Given the description of an element on the screen output the (x, y) to click on. 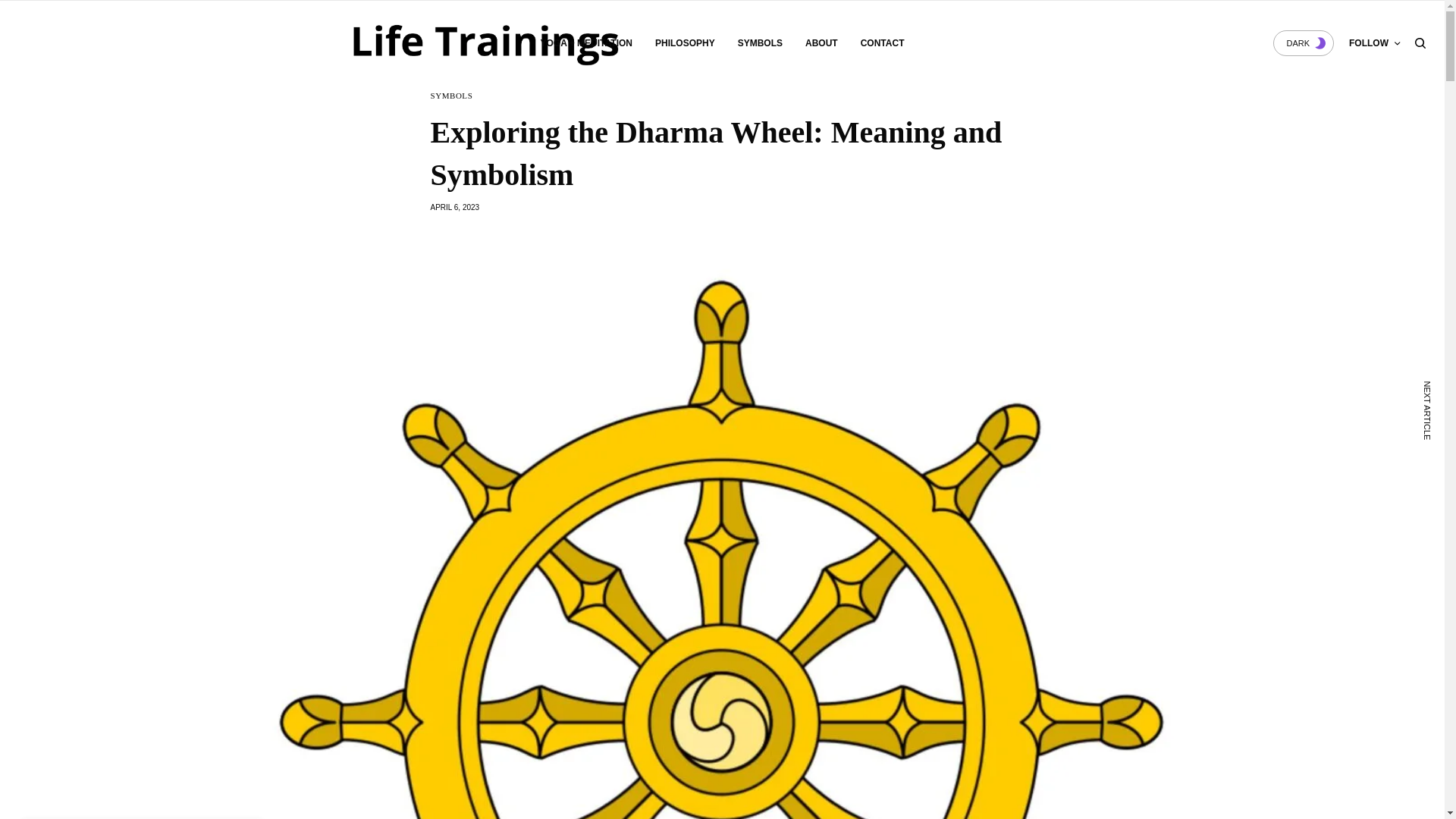
Life Trainings (510, 42)
SYMBOLS (451, 95)
FOLLOW (1374, 43)
